Given the description of an element on the screen output the (x, y) to click on. 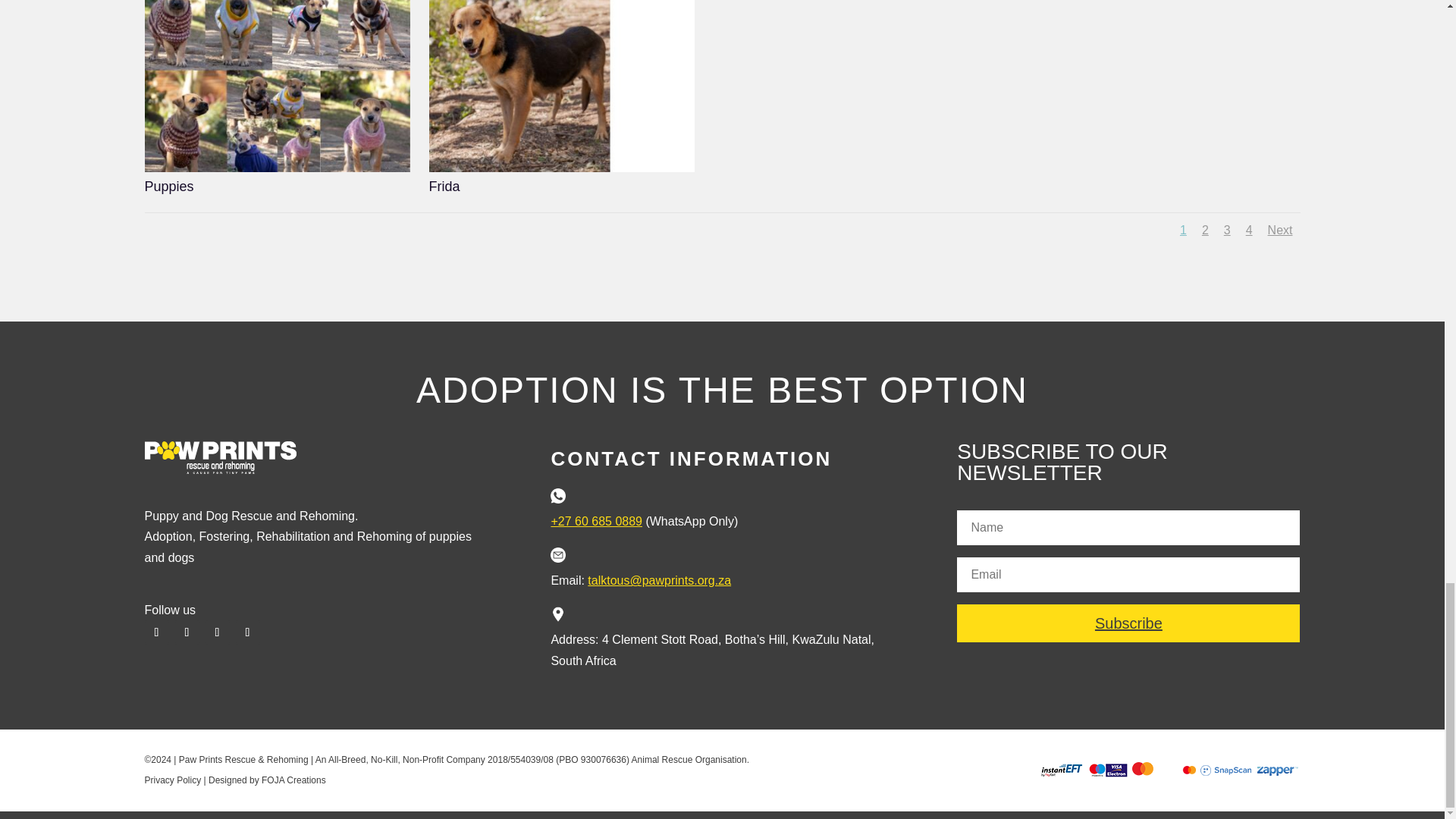
logo white hor200 (219, 457)
payments (1169, 770)
Follow on Facebook (156, 631)
Follow on Instagram (186, 631)
Follow on WhatsApp (216, 631)
Follow on TikTok (246, 631)
